Given the description of an element on the screen output the (x, y) to click on. 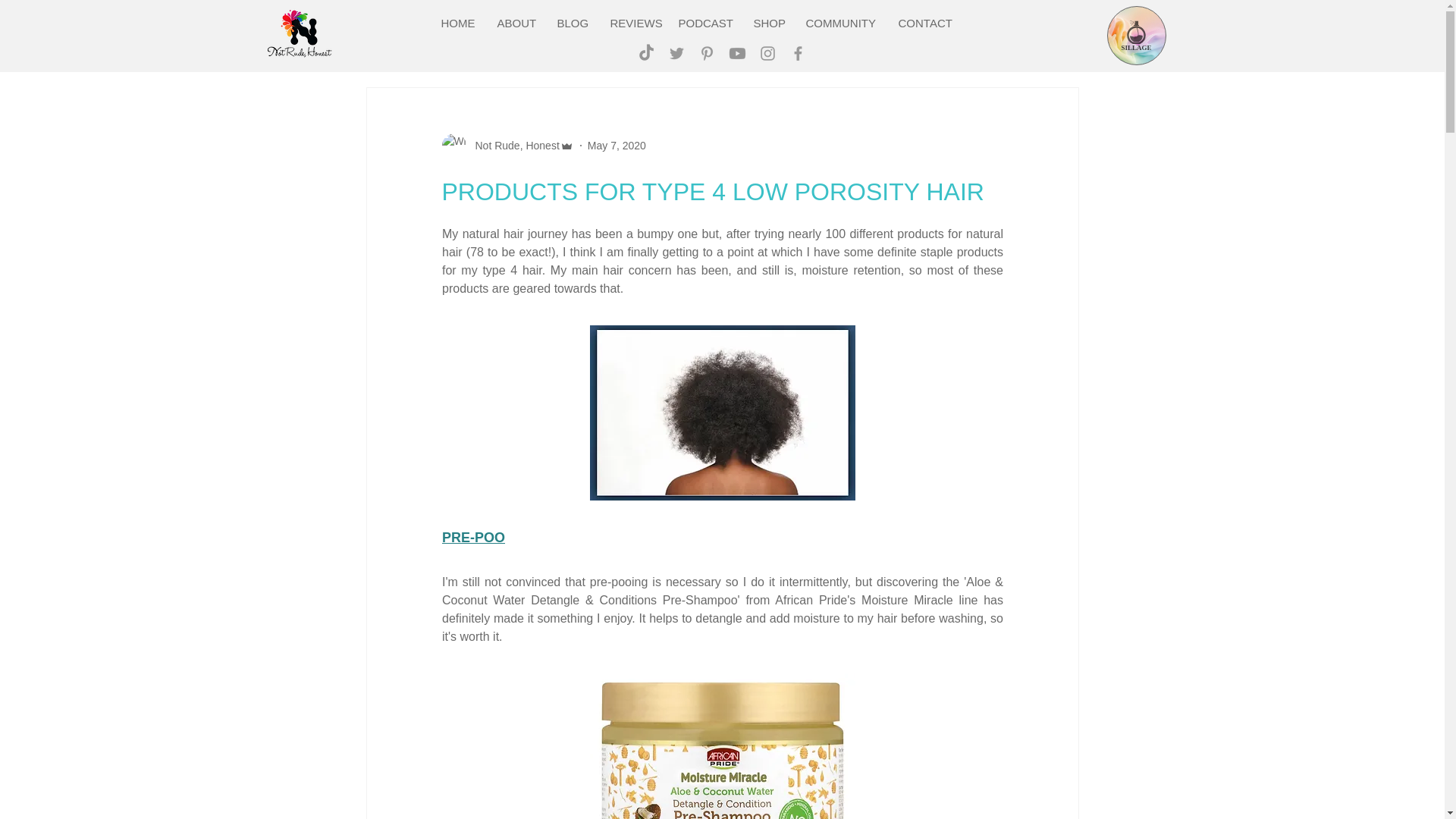
SILLAGE (1136, 35)
May 7, 2020 (617, 145)
ABOUT (516, 22)
HOME (458, 22)
BLOG (572, 22)
CONTACT (924, 22)
PODCAST (704, 22)
Not Rude, Honest (512, 145)
COMMUNITY (840, 22)
Not Rude, Honest (507, 145)
SHOP (768, 22)
